Given the description of an element on the screen output the (x, y) to click on. 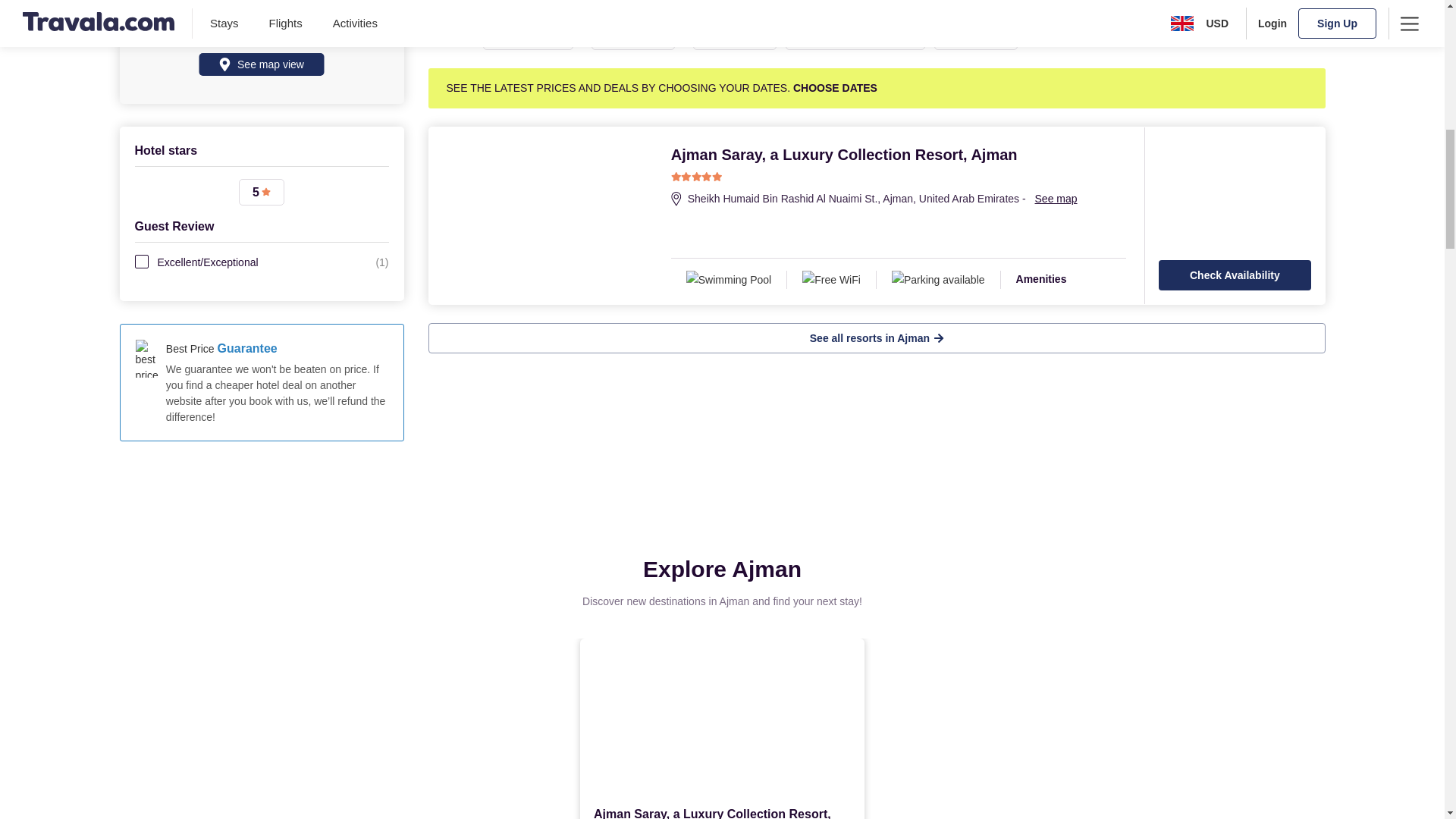
Free WiFi (831, 280)
Parking available (938, 280)
Swimming Pool (729, 280)
